Given the description of an element on the screen output the (x, y) to click on. 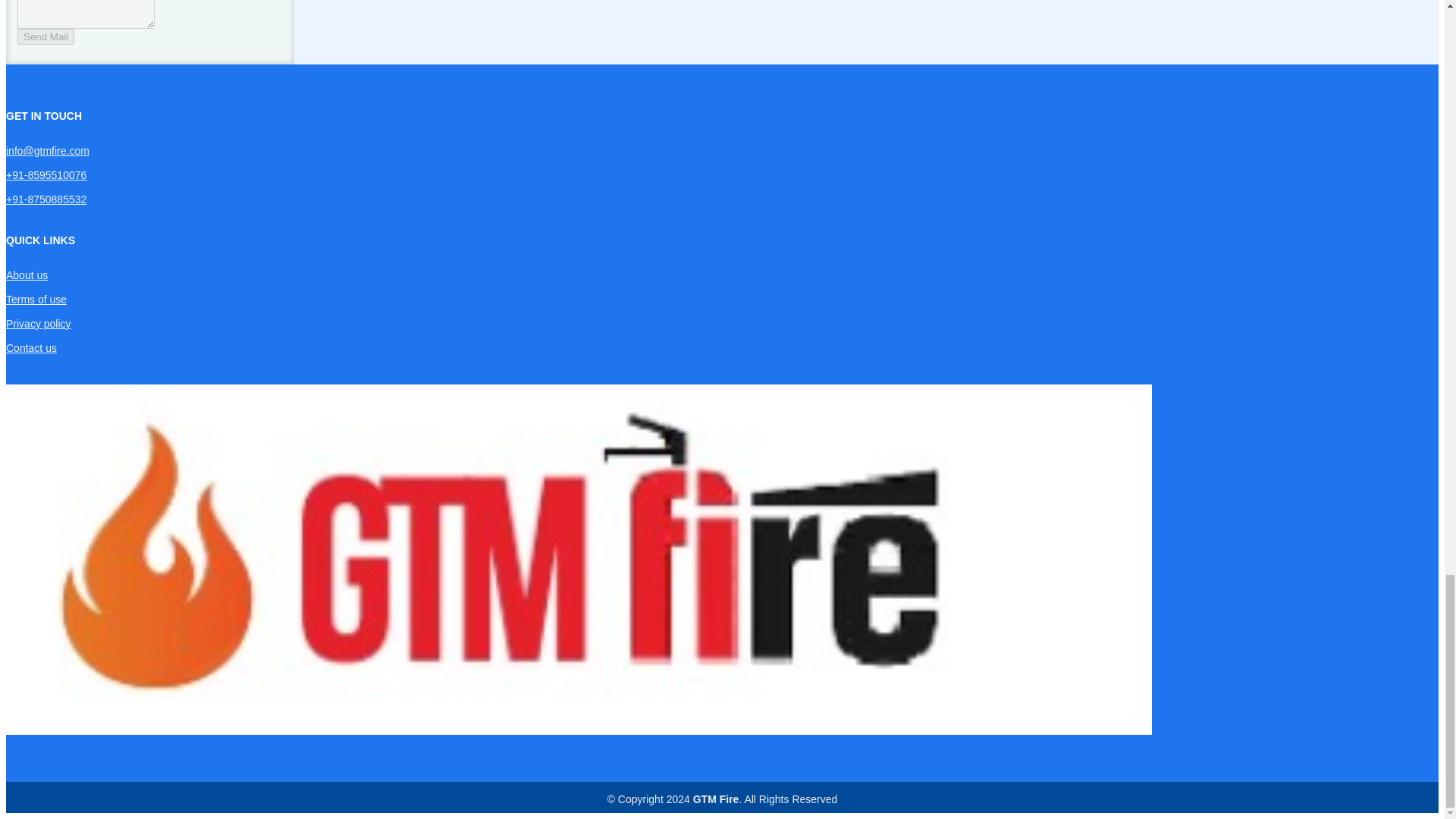
Terms of use (35, 299)
Privacy policy (38, 323)
Send Mail (45, 36)
Contact us (30, 347)
About us (26, 275)
